Given the description of an element on the screen output the (x, y) to click on. 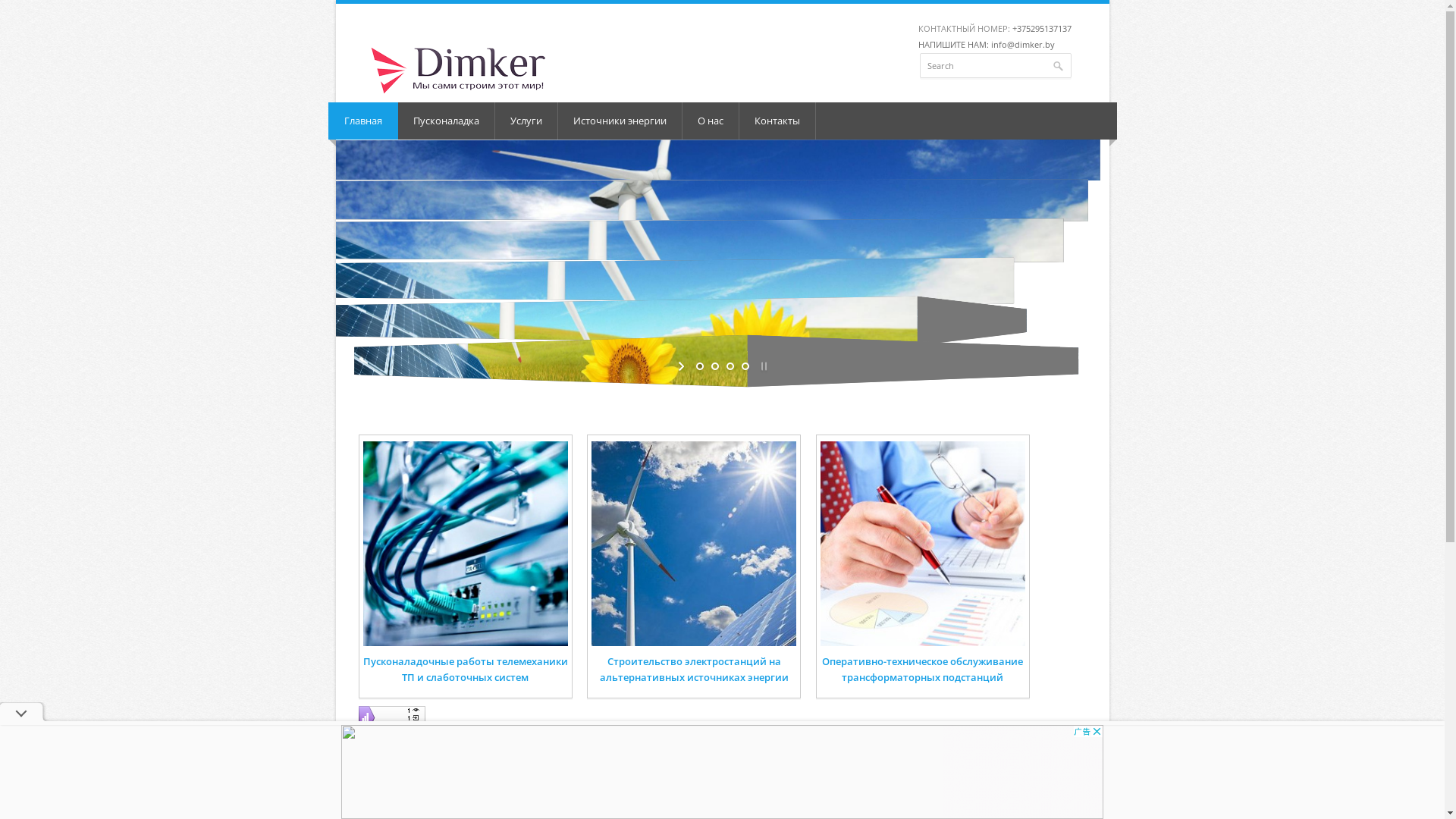
+375295137137 Element type: text (1040, 28)
